Given the description of an element on the screen output the (x, y) to click on. 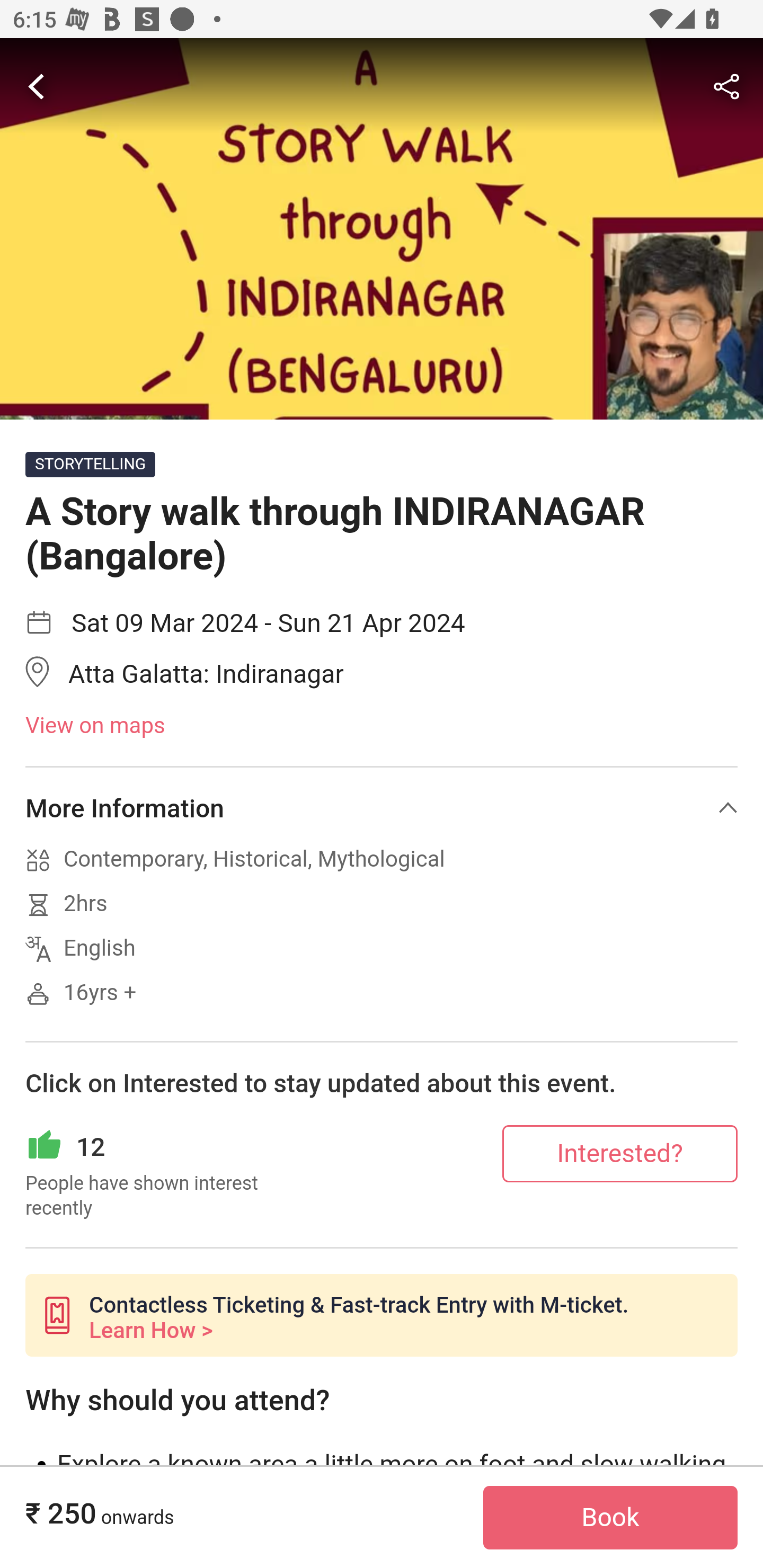
View on maps (381, 725)
More Information (381, 807)
Interested? (619, 1153)
Learn How > (150, 1330)
Book (609, 1517)
